Given the description of an element on the screen output the (x, y) to click on. 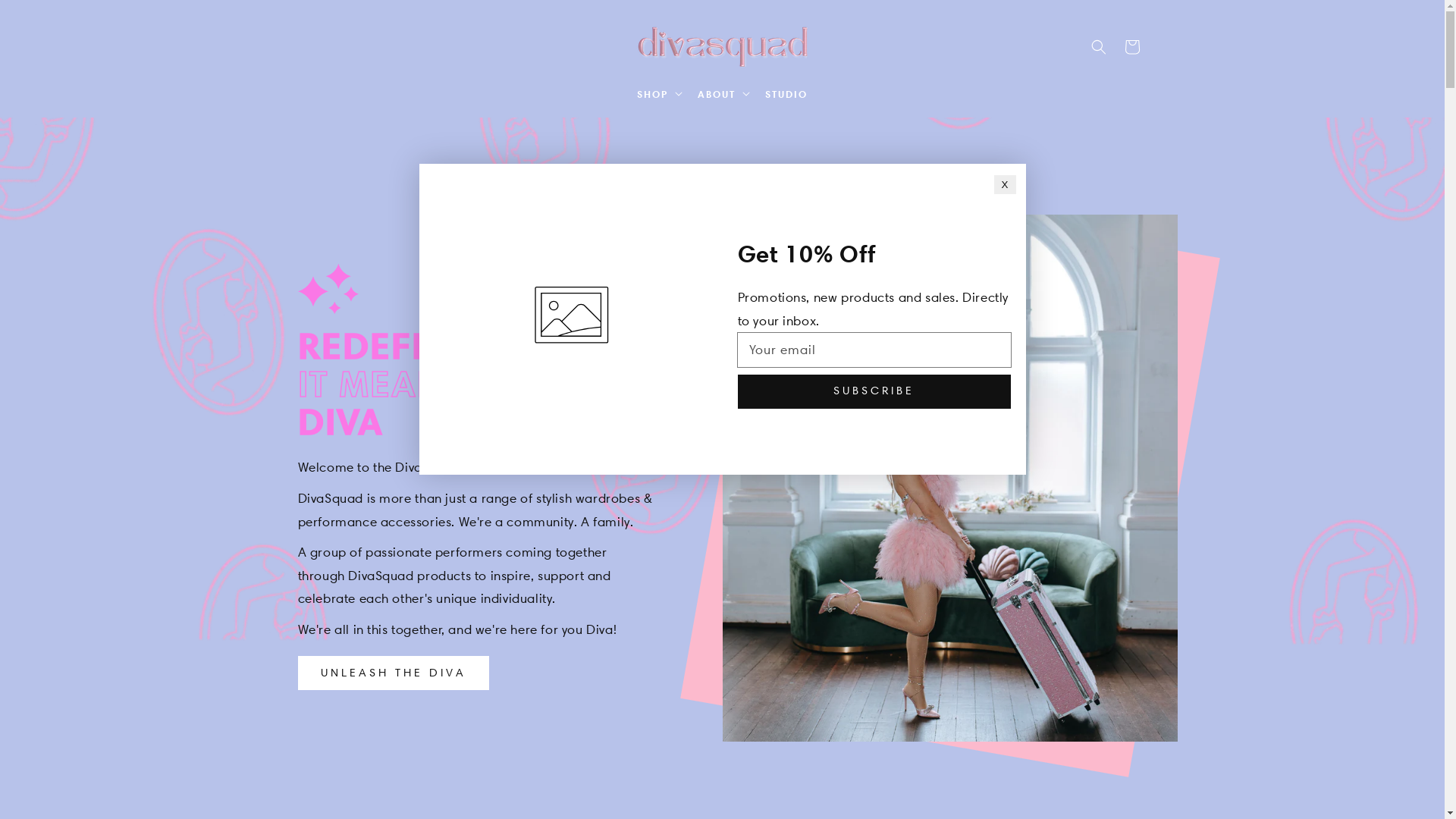
UNLEASH THE DIVA Element type: text (392, 672)
SUBSCRIBE Element type: text (873, 391)
STUDIO Element type: text (786, 93)
X Element type: text (1005, 184)
Cart Element type: text (1131, 46)
Add to cart Element type: text (928, 359)
